Given the description of an element on the screen output the (x, y) to click on. 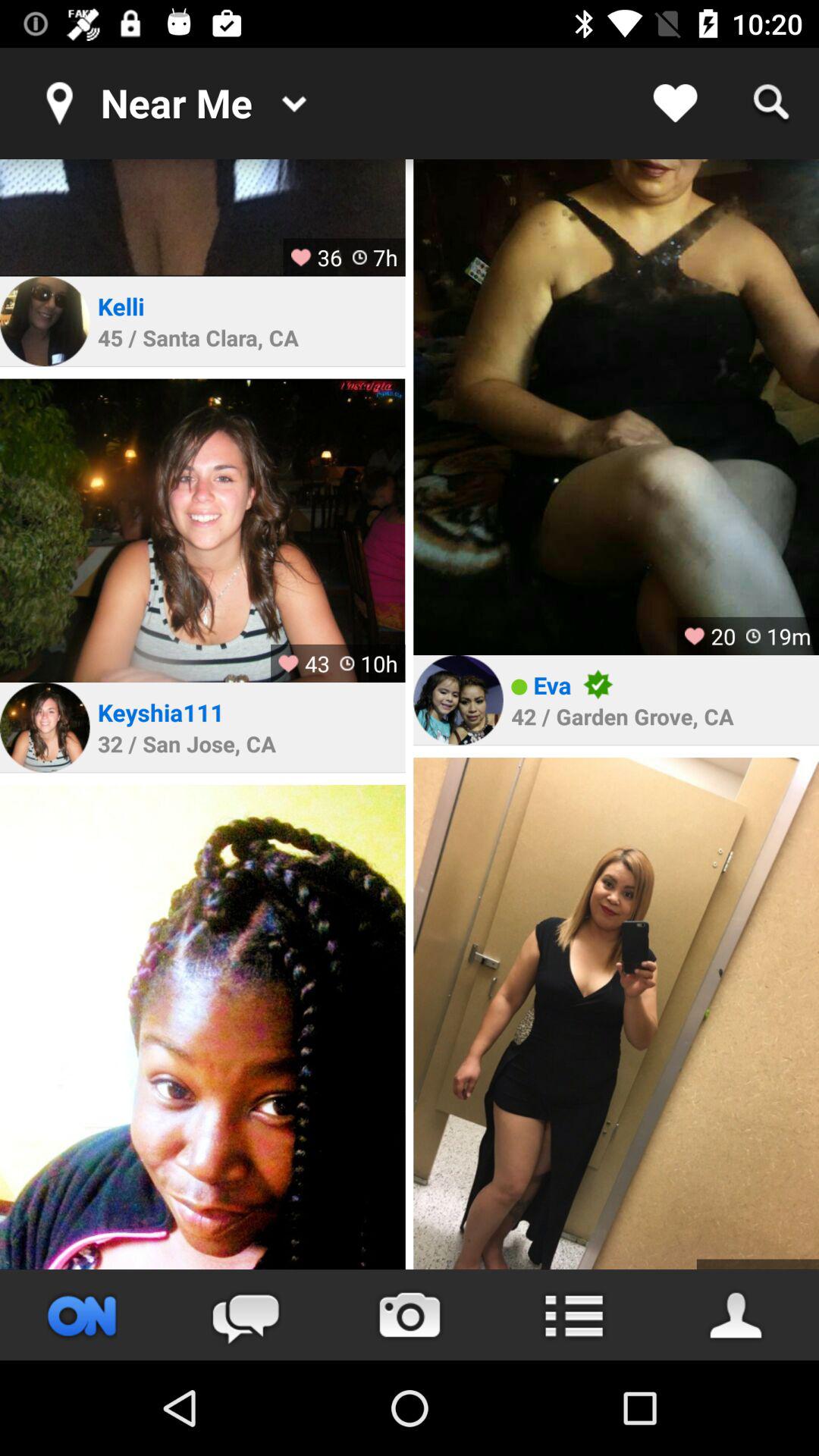
see more from user eva 42 garden grove ca (616, 1013)
